Given the description of an element on the screen output the (x, y) to click on. 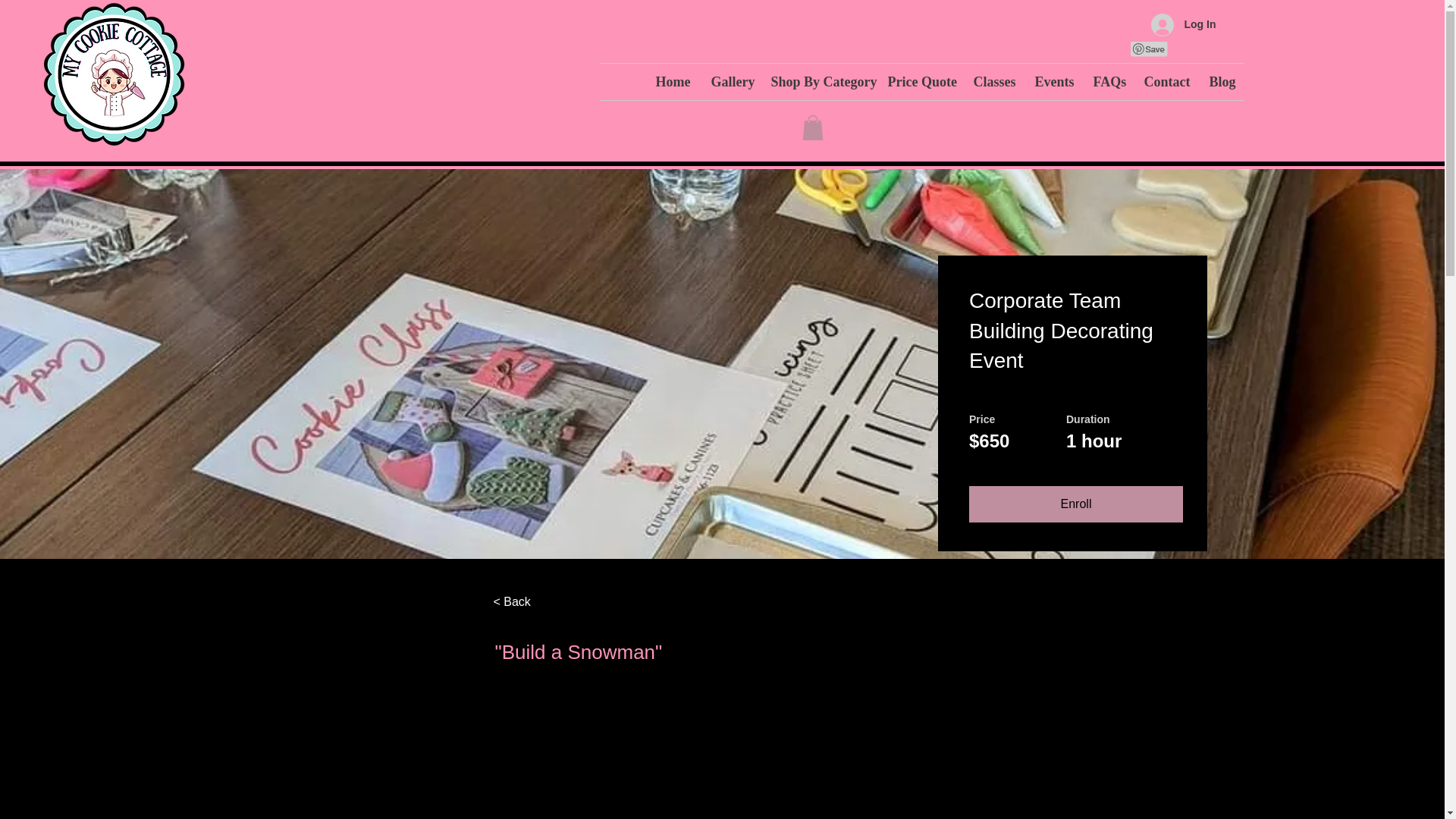
Contact (1165, 81)
Home (672, 81)
FAQs (1106, 81)
Pin to Pinterest (1148, 48)
Classes (991, 81)
Gallery (728, 81)
Events (1052, 81)
Blog (1221, 81)
Price Quote (919, 81)
Log In (1183, 24)
